Given the description of an element on the screen output the (x, y) to click on. 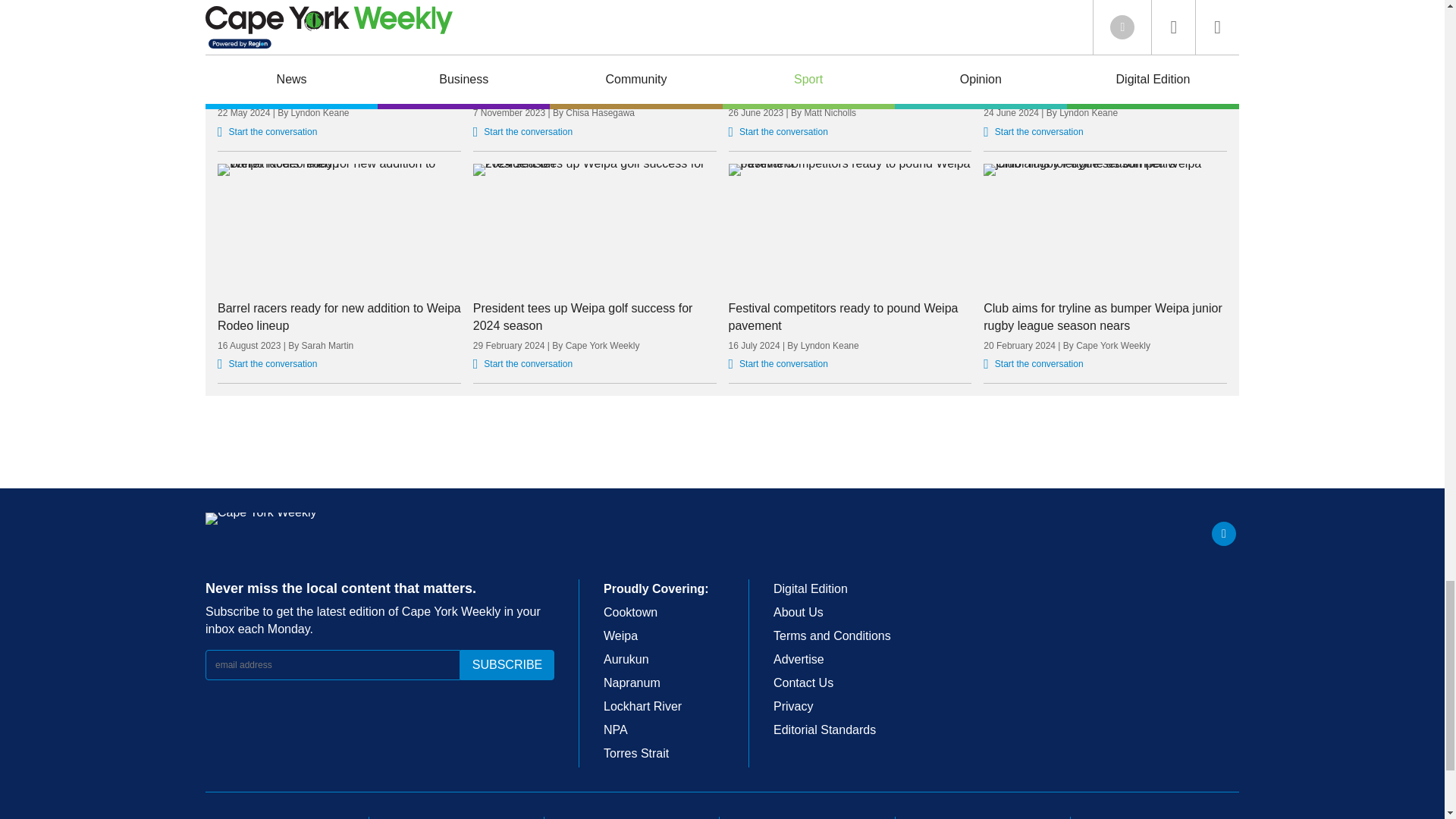
subscribe (507, 665)
Facebook (1223, 533)
